Given the description of an element on the screen output the (x, y) to click on. 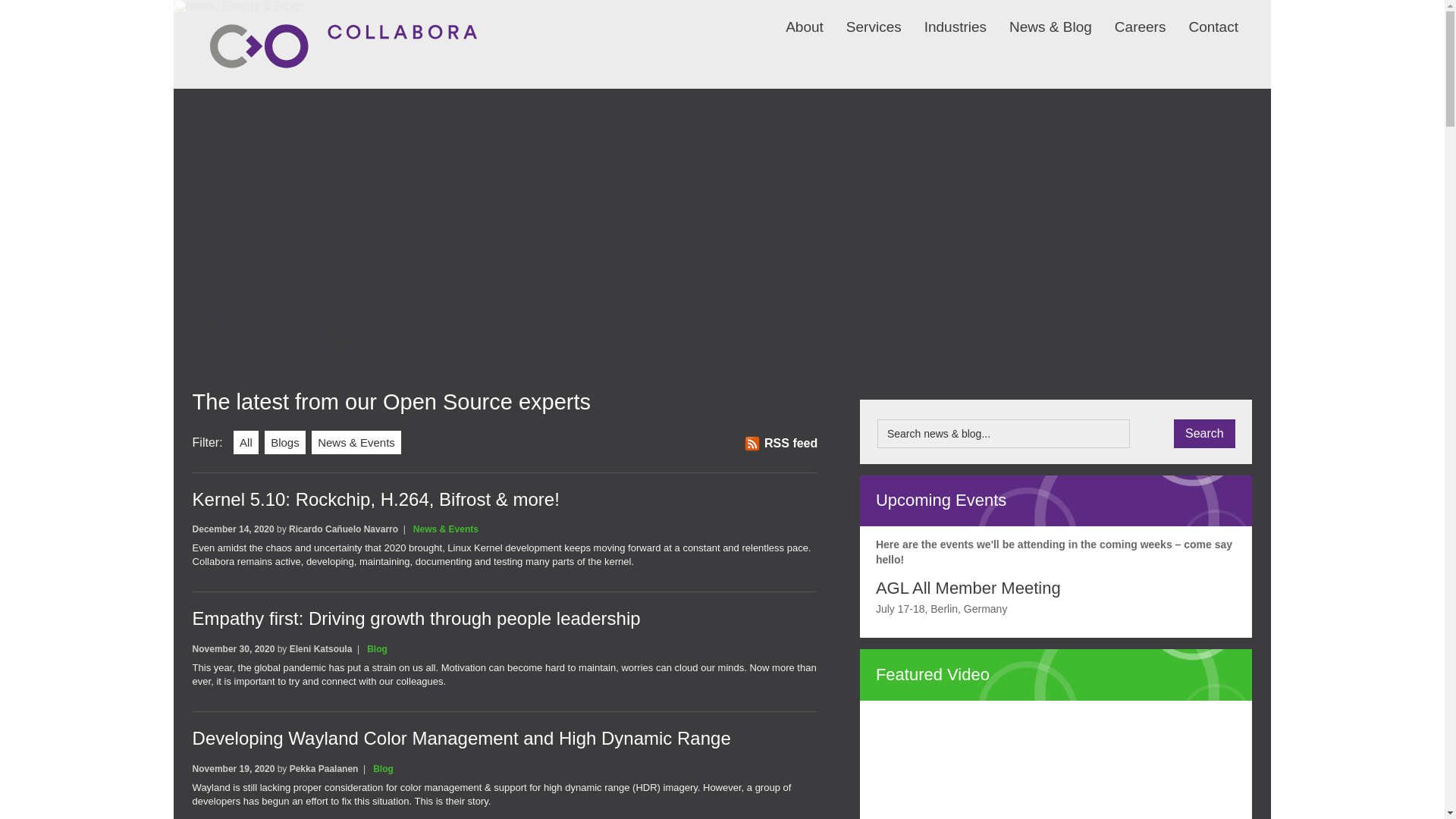
All (245, 442)
About (793, 17)
Navigate to the Services page (862, 17)
Navigate to the Industries page (944, 17)
Careers (1129, 17)
Blogs (284, 442)
Services (862, 17)
RSS feed (780, 442)
Industries (944, 17)
Search (1203, 433)
Contact (1201, 17)
Navigate to the About page (793, 17)
